Given the description of an element on the screen output the (x, y) to click on. 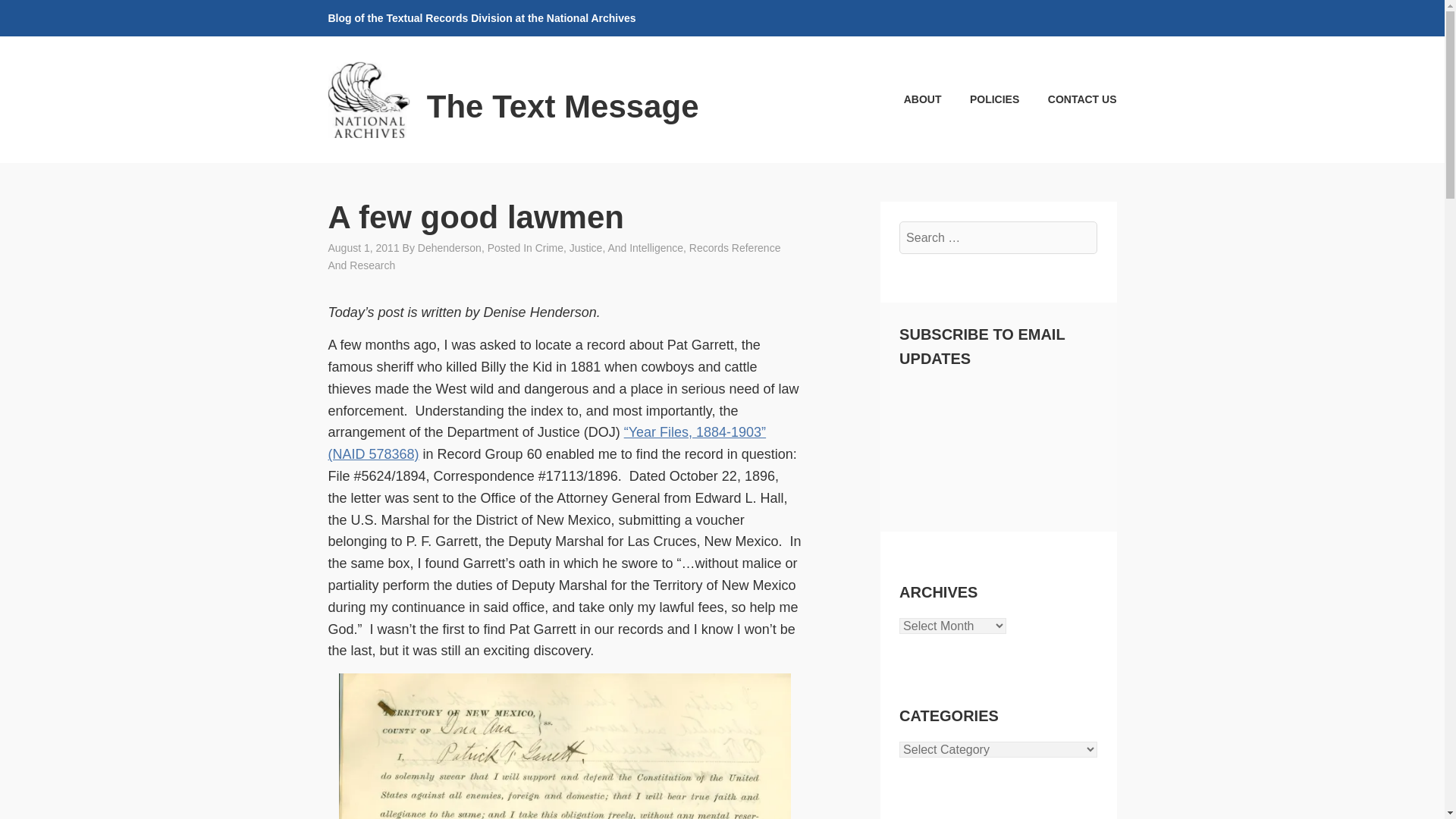
POLICIES (981, 99)
Search (48, 17)
August 1, 2011 (362, 247)
Records Reference And Research (553, 256)
Dehenderson (449, 247)
Crime, Justice, And Intelligence (608, 247)
The Text Message (562, 106)
ABOUT (908, 99)
Form 0 (998, 442)
CONTACT US (1069, 99)
